Given the description of an element on the screen output the (x, y) to click on. 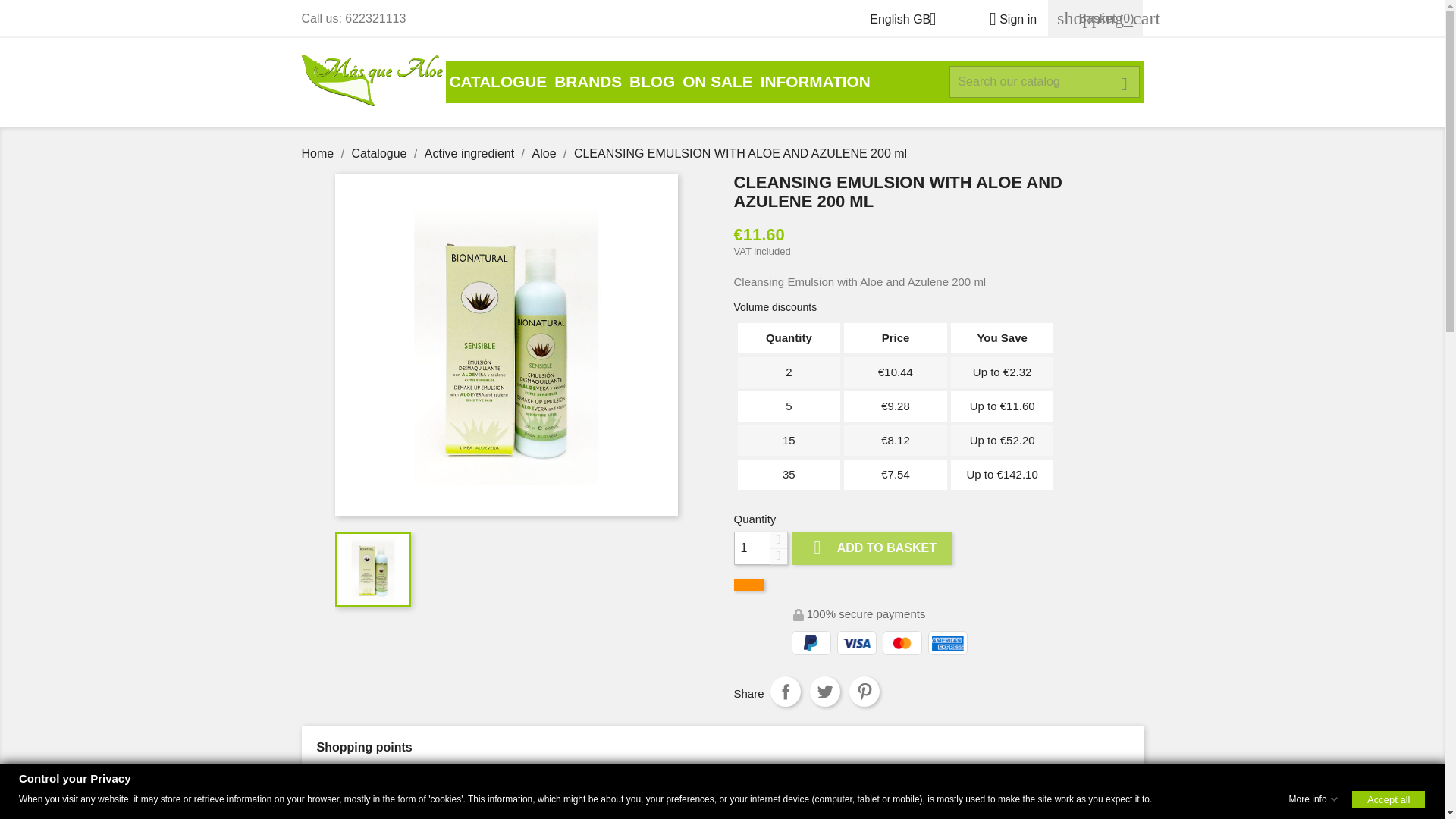
Log in to your customer account (1007, 19)
Catalogue (498, 81)
CATALOGUE (498, 81)
1 (751, 548)
